Given the description of an element on the screen output the (x, y) to click on. 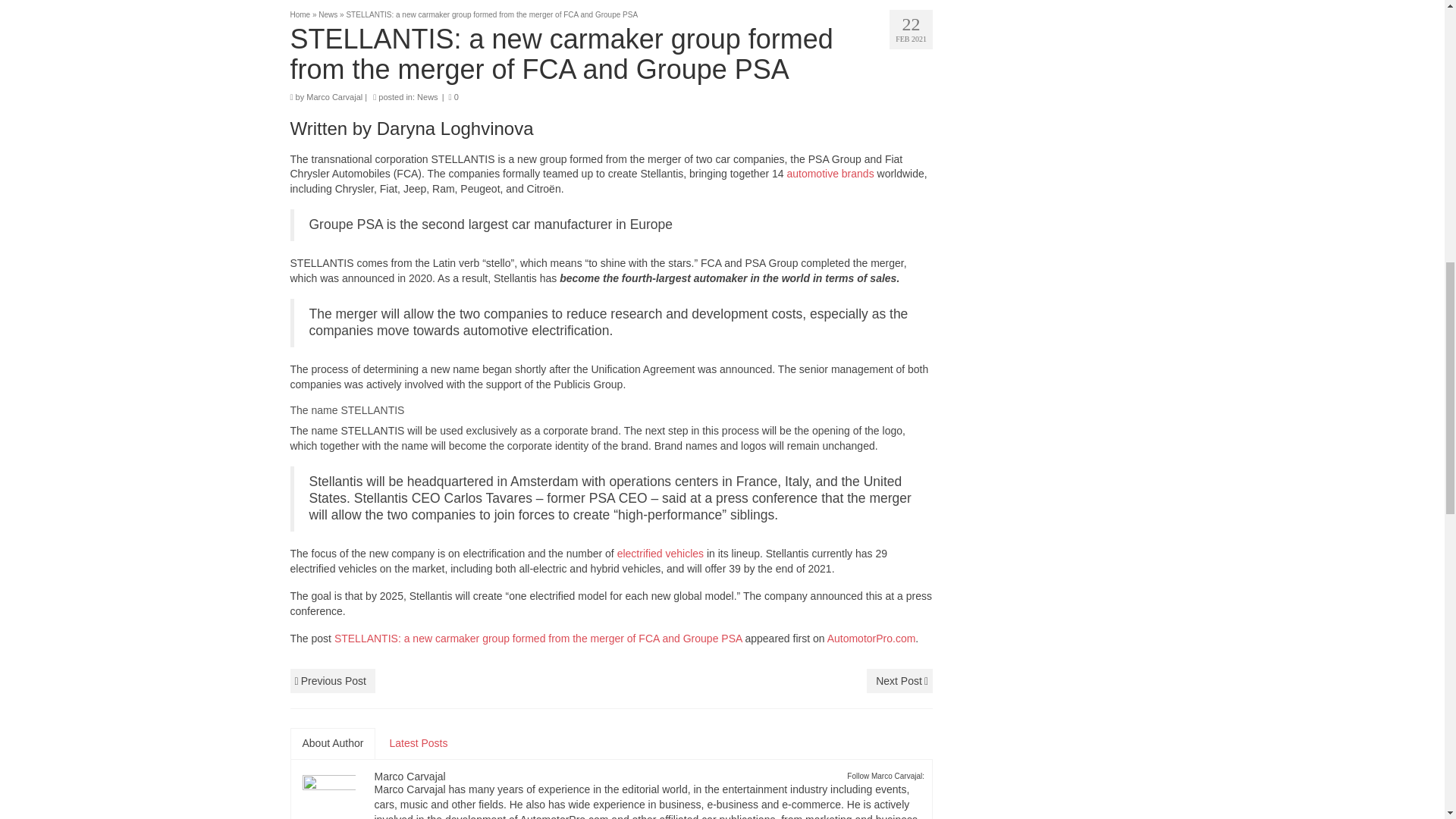
Posts by Marco Carvajal (409, 776)
